Given the description of an element on the screen output the (x, y) to click on. 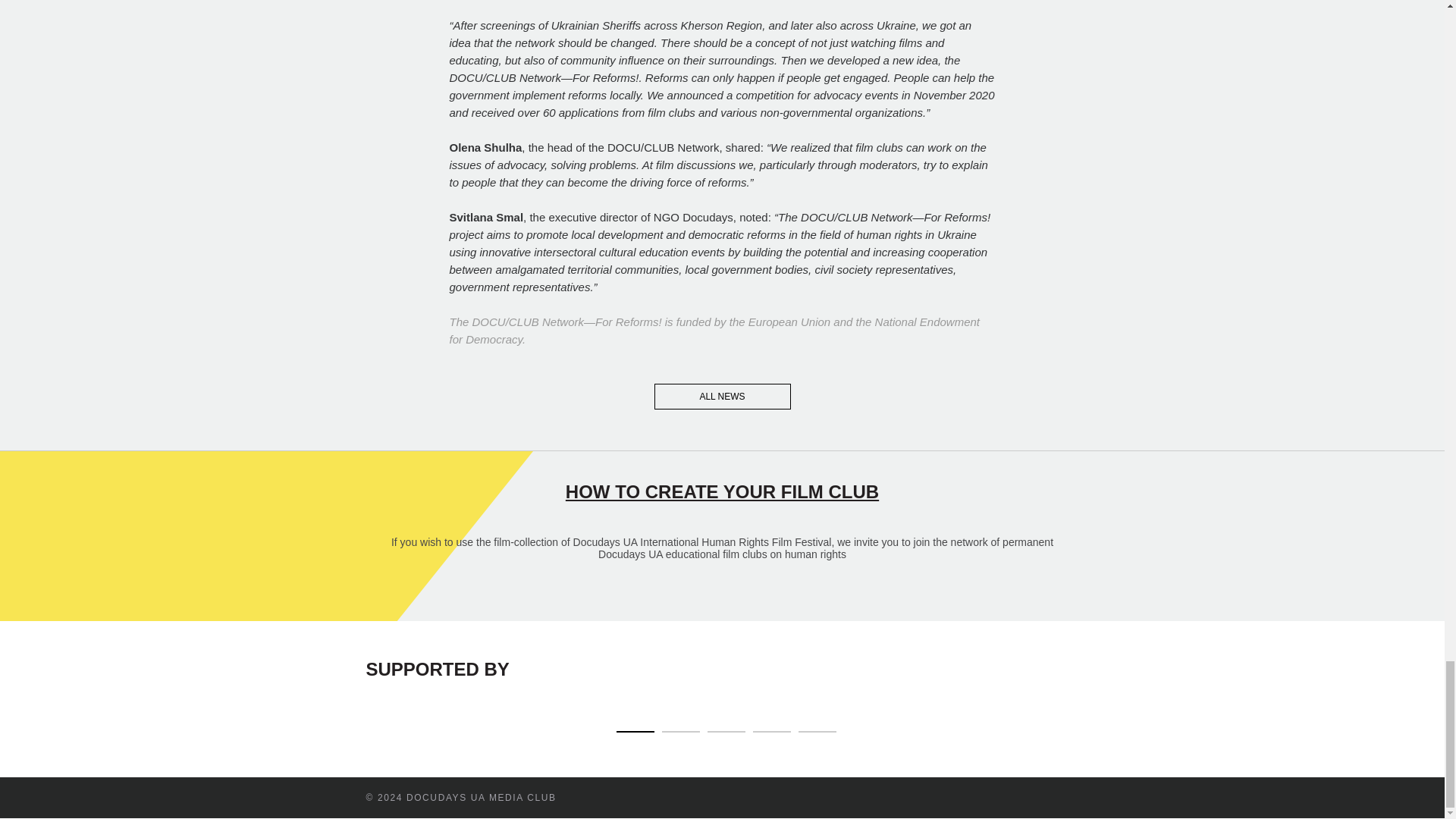
HOW TO CREATE YOUR FILM CLUB (722, 491)
Previous (342, 701)
ALL NEWS (721, 396)
Next (1101, 701)
